Given the description of an element on the screen output the (x, y) to click on. 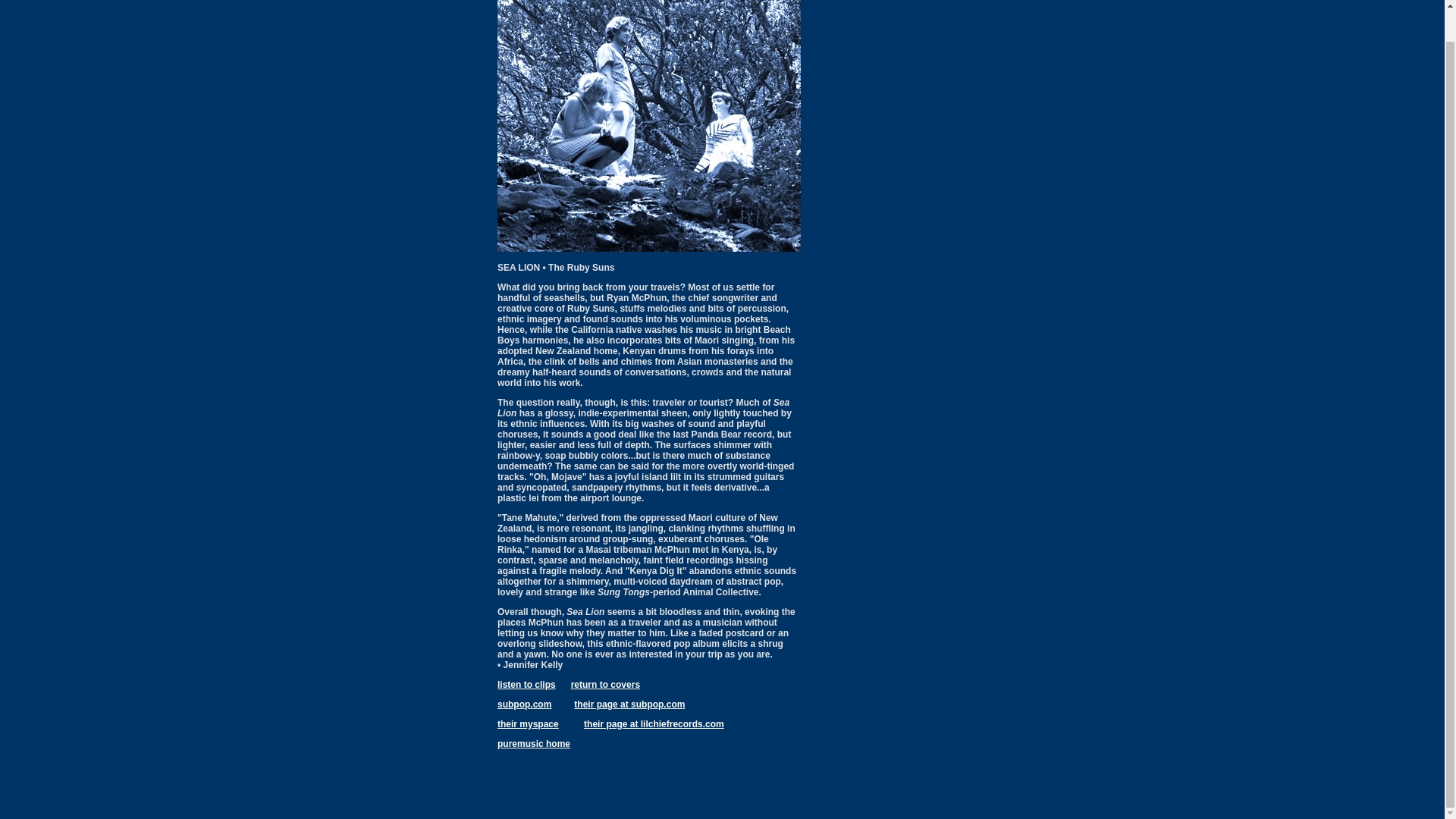
return to covers (605, 684)
listen to clips (526, 684)
their page at subpop.com (628, 704)
their myspace (528, 724)
puremusic home (533, 743)
subpop.com (524, 704)
their page at lilchiefrecords.com (653, 724)
